Given the description of an element on the screen output the (x, y) to click on. 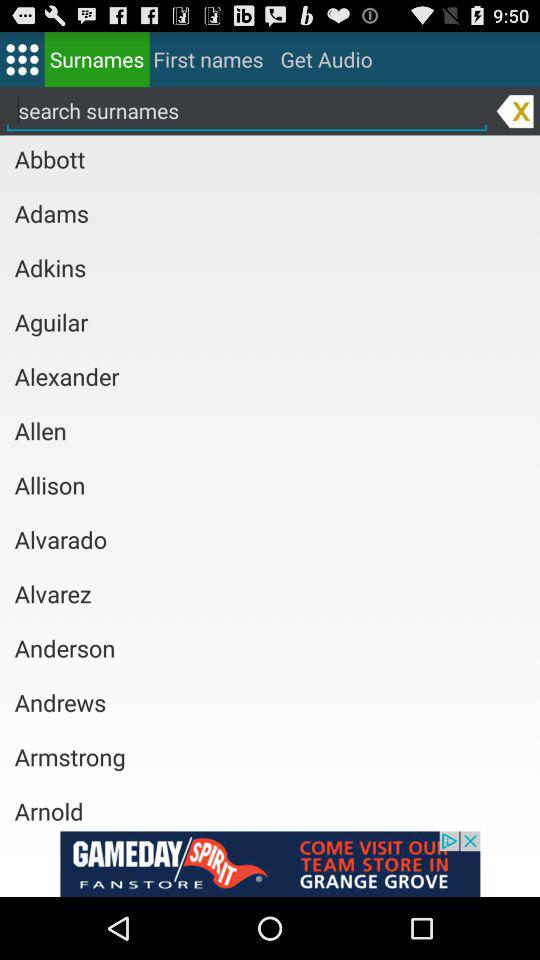
backspace (514, 110)
